Given the description of an element on the screen output the (x, y) to click on. 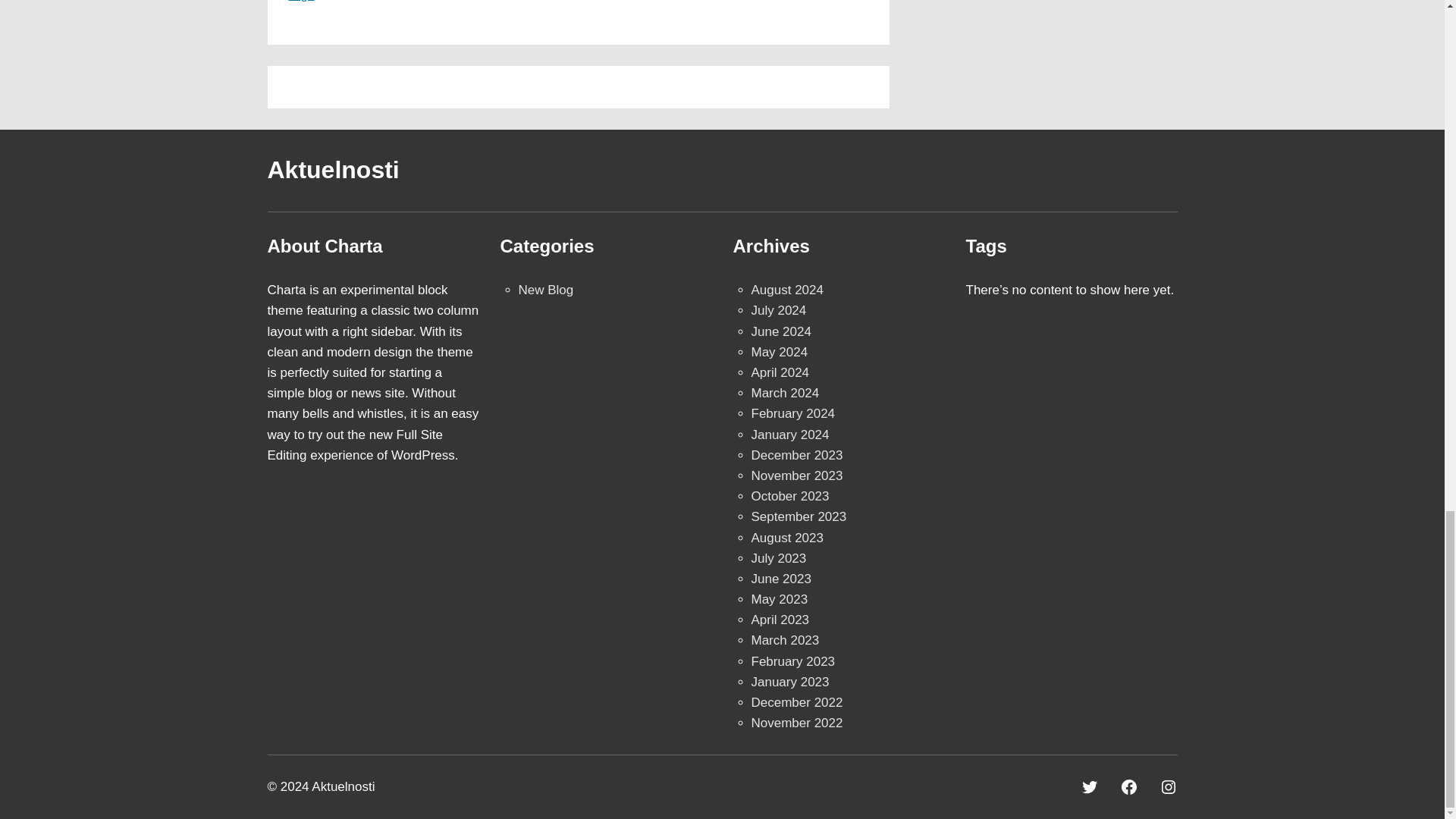
July 2024 (778, 310)
April 2024 (780, 372)
June 2024 (780, 331)
May 2024 (779, 351)
New Blog (545, 289)
March 2024 (784, 392)
Aktuelnosti (332, 169)
August 2024 (786, 289)
wigs (301, 1)
February 2024 (792, 413)
